Given the description of an element on the screen output the (x, y) to click on. 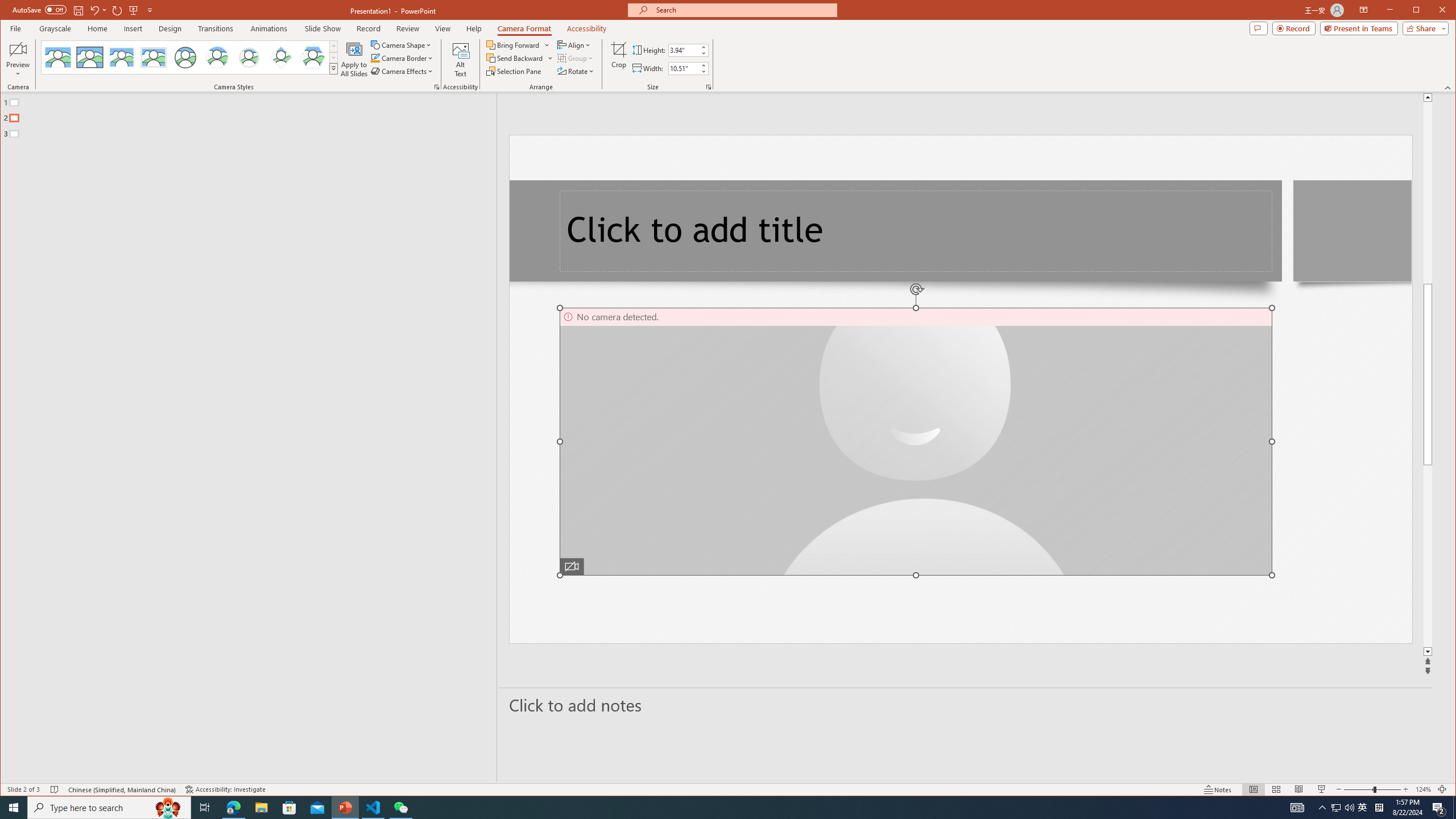
Cameo Width (683, 68)
Crop (618, 59)
